Given the description of an element on the screen output the (x, y) to click on. 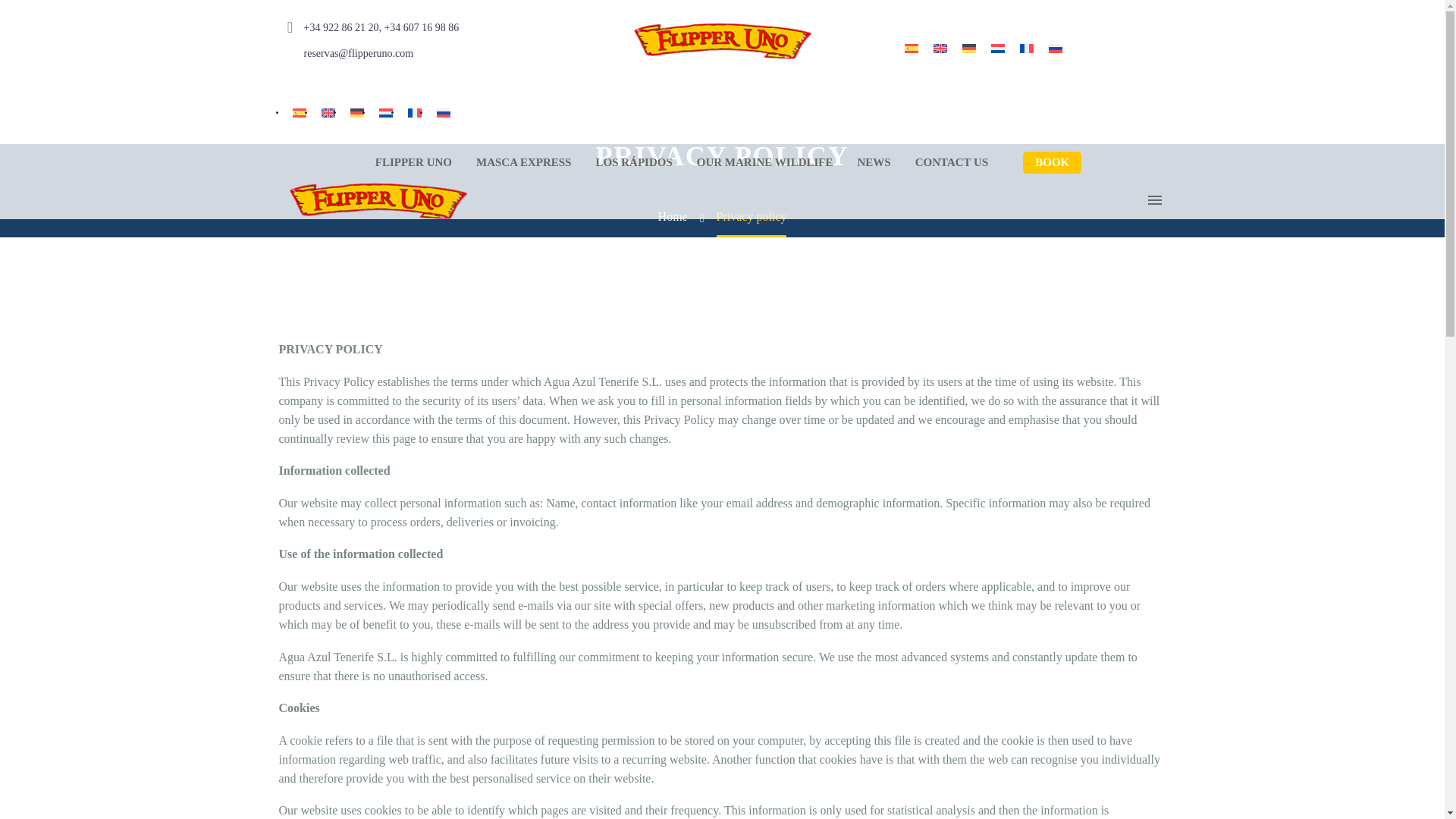
FLIPPER UNO (413, 162)
MASCA EXPRESS (523, 162)
CONTACT US (951, 162)
NEWS (873, 162)
BOOK (1052, 162)
OUR MARINE WILDLIFE (764, 162)
